Given the description of an element on the screen output the (x, y) to click on. 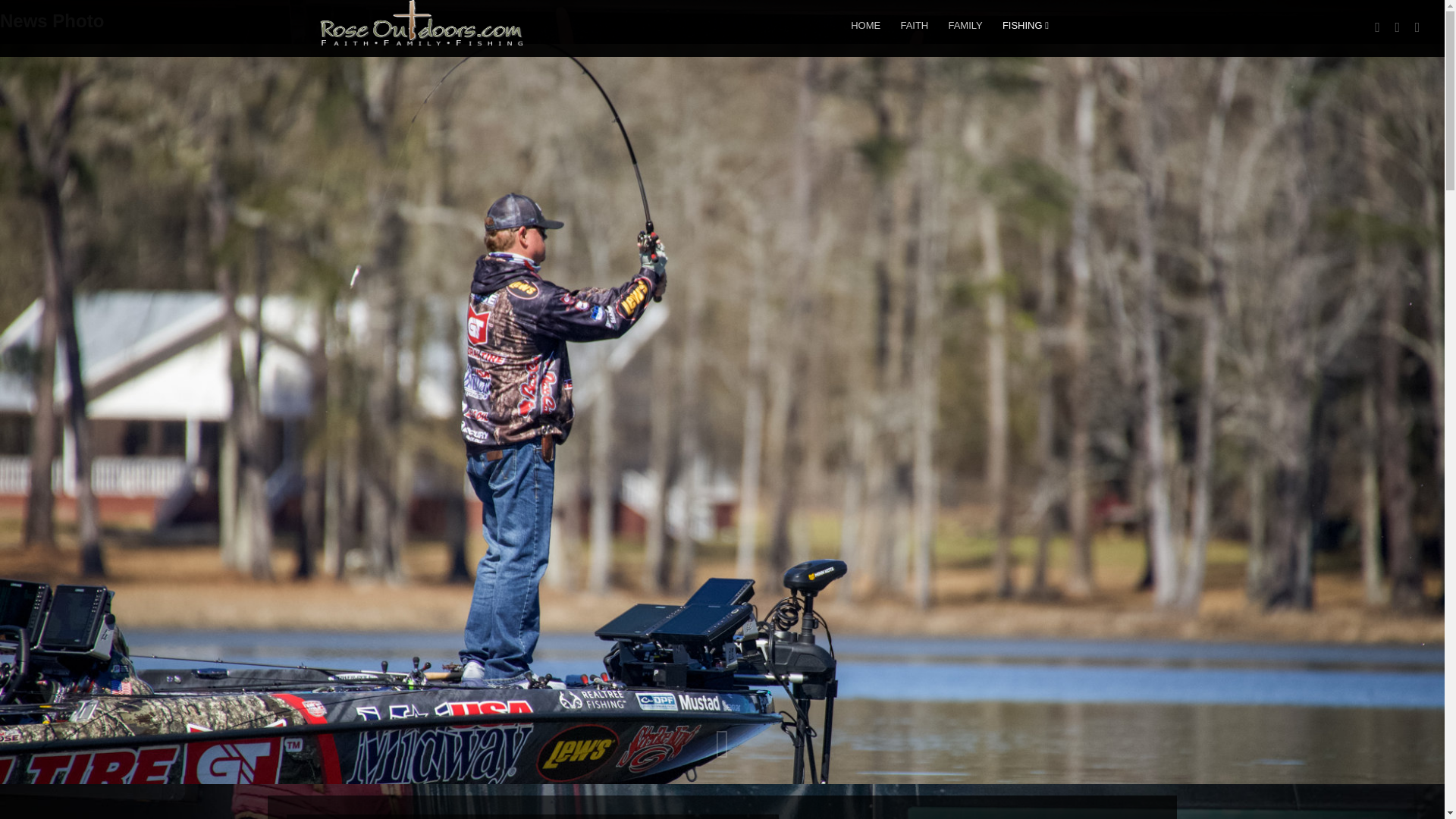
FAMILY (965, 24)
FISHING (1025, 24)
HOME (865, 24)
